Given the description of an element on the screen output the (x, y) to click on. 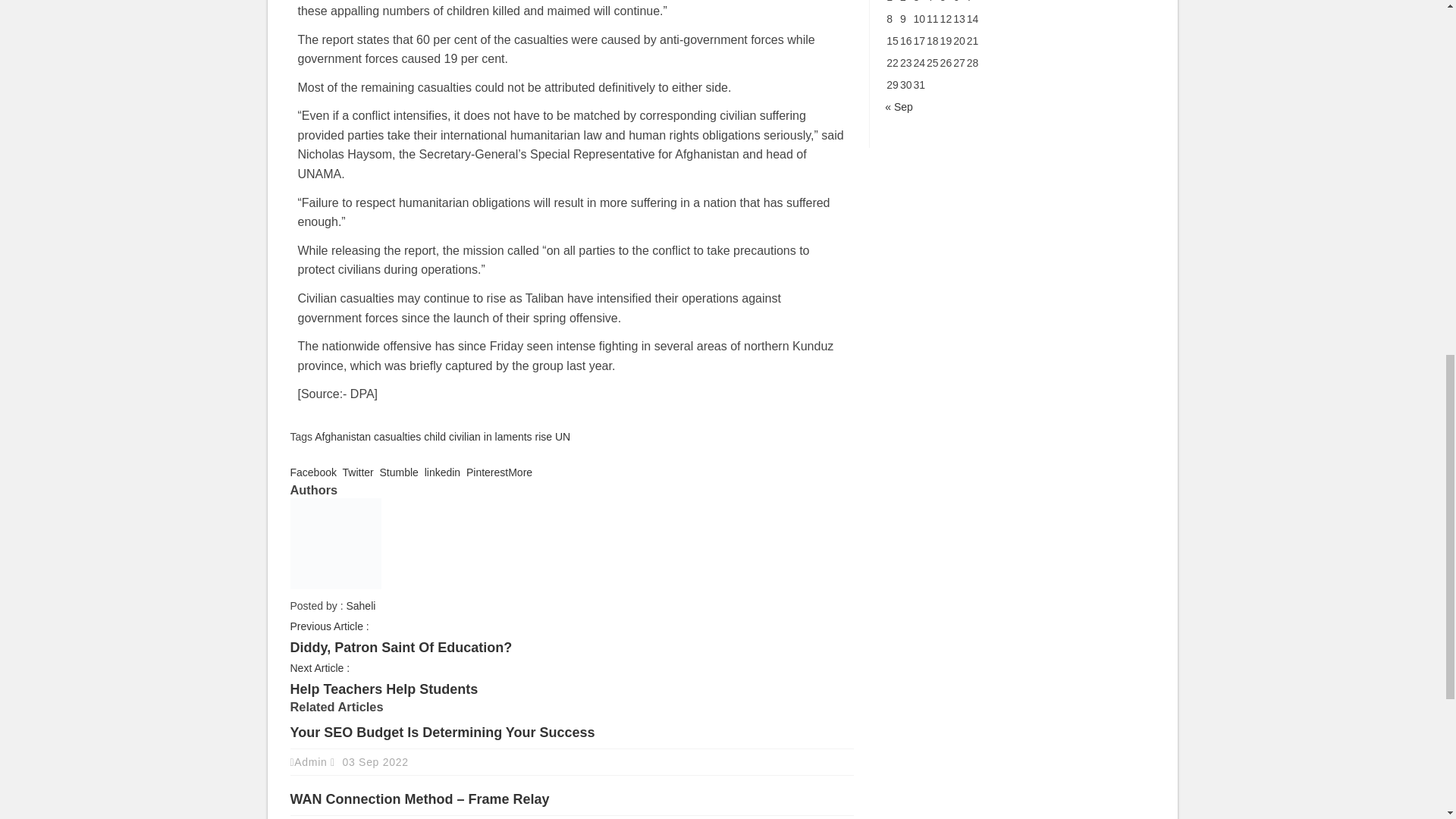
UN (562, 436)
Your SEO Budget Is Determining Your Success (441, 732)
rise (544, 436)
UN laments rise in civilian, child casualties in Afghanistan (398, 472)
laments (513, 436)
UN laments rise in civilian, child casualties in Afghanistan (441, 472)
Twitter (356, 472)
Facebook (312, 472)
child (434, 436)
Posts by Saheli (360, 605)
casualties (397, 436)
in (487, 436)
civilian (464, 436)
Afghanistan (342, 436)
